Given the description of an element on the screen output the (x, y) to click on. 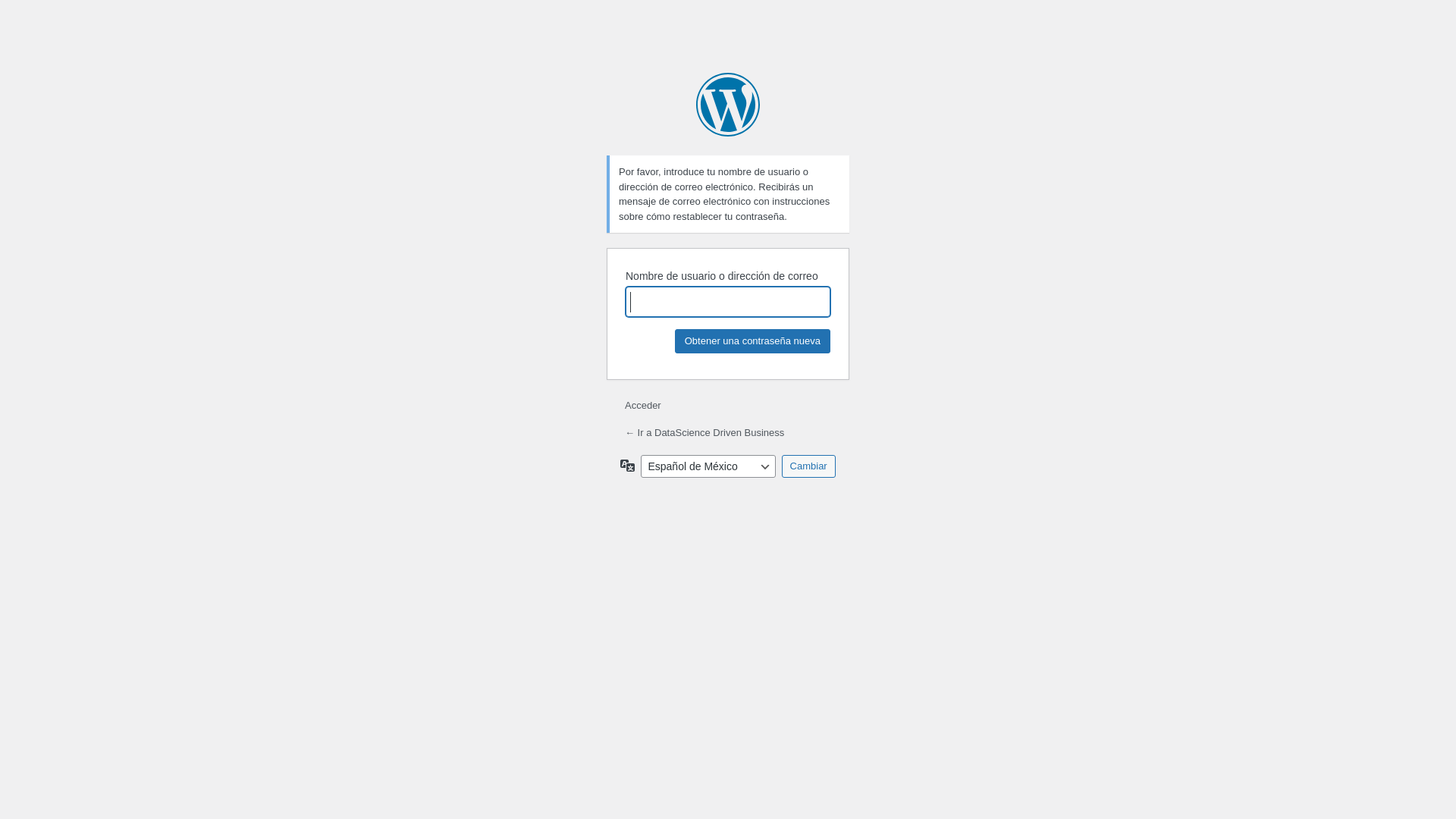
Cambiar Element type: text (808, 466)
Funciona gracias a WordPress Element type: text (727, 104)
Acceder Element type: text (642, 405)
